Given the description of an element on the screen output the (x, y) to click on. 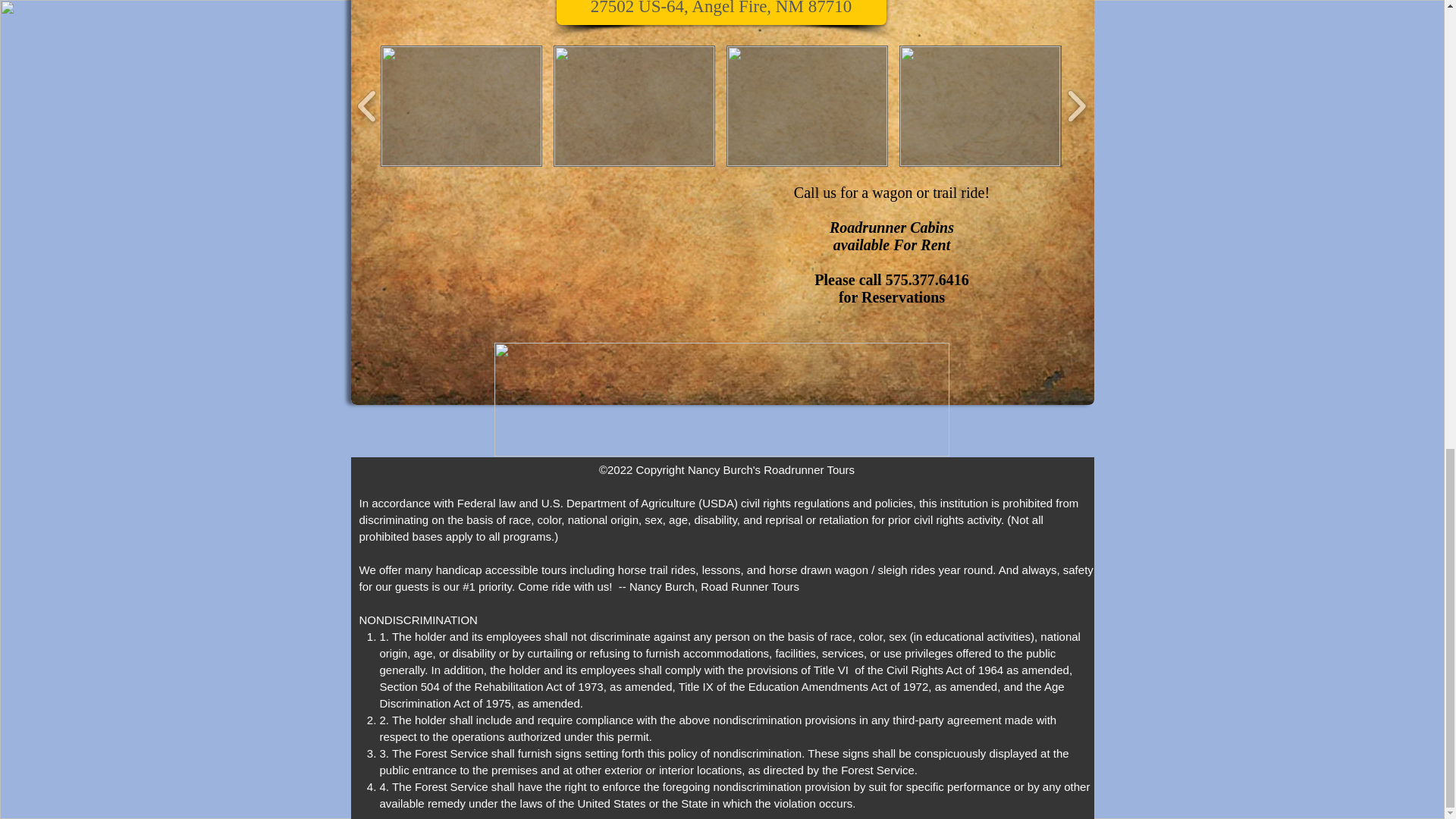
27502 US-64, Angel Fire, NM 87710 (721, 12)
